Given the description of an element on the screen output the (x, y) to click on. 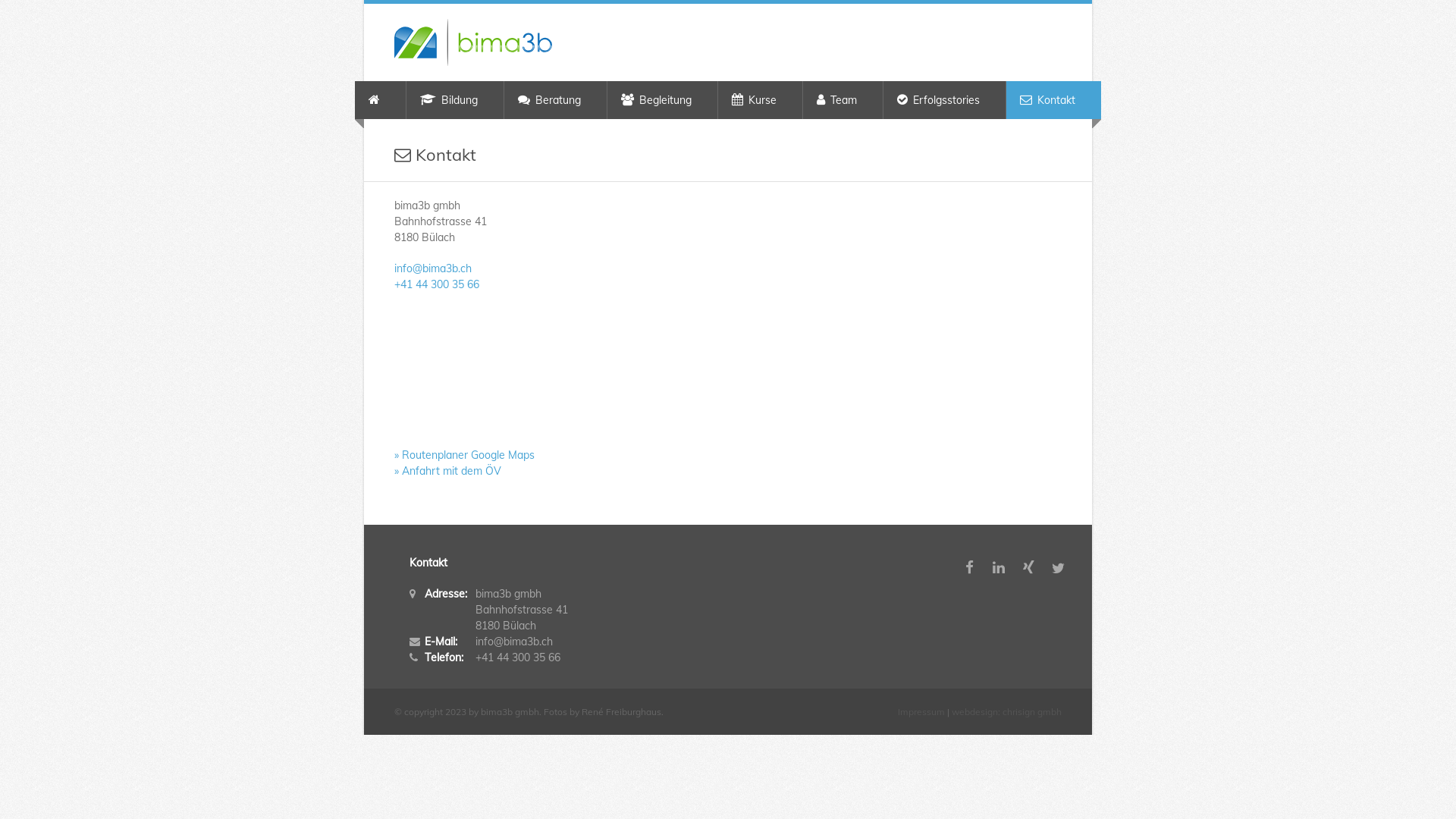
bima3b gmbh auf Twitter Element type: hover (1057, 568)
webdesign: chrisign gmbh Element type: text (1006, 711)
Begleitung Element type: text (662, 100)
Erfolgsstories Element type: text (944, 100)
Team Element type: text (843, 100)
Kontakt Element type: text (1053, 100)
+41 44 300 35 66 Element type: text (436, 284)
bima3b gmbh auf LinkedIn Element type: hover (998, 567)
Impressum Element type: text (920, 711)
Bildung Element type: text (455, 100)
info@bima3b.ch Element type: text (432, 268)
bima3b gmbh Element type: hover (473, 41)
bima3b gmbh auf Facebook Element type: hover (969, 567)
bima3b gmbh auf XING Element type: hover (1028, 567)
+41 44 300 35 66 Element type: text (517, 657)
info@bima3b.ch Element type: text (513, 641)
Kurse Element type: text (760, 100)
Beratung Element type: text (555, 100)
